Given the description of an element on the screen output the (x, y) to click on. 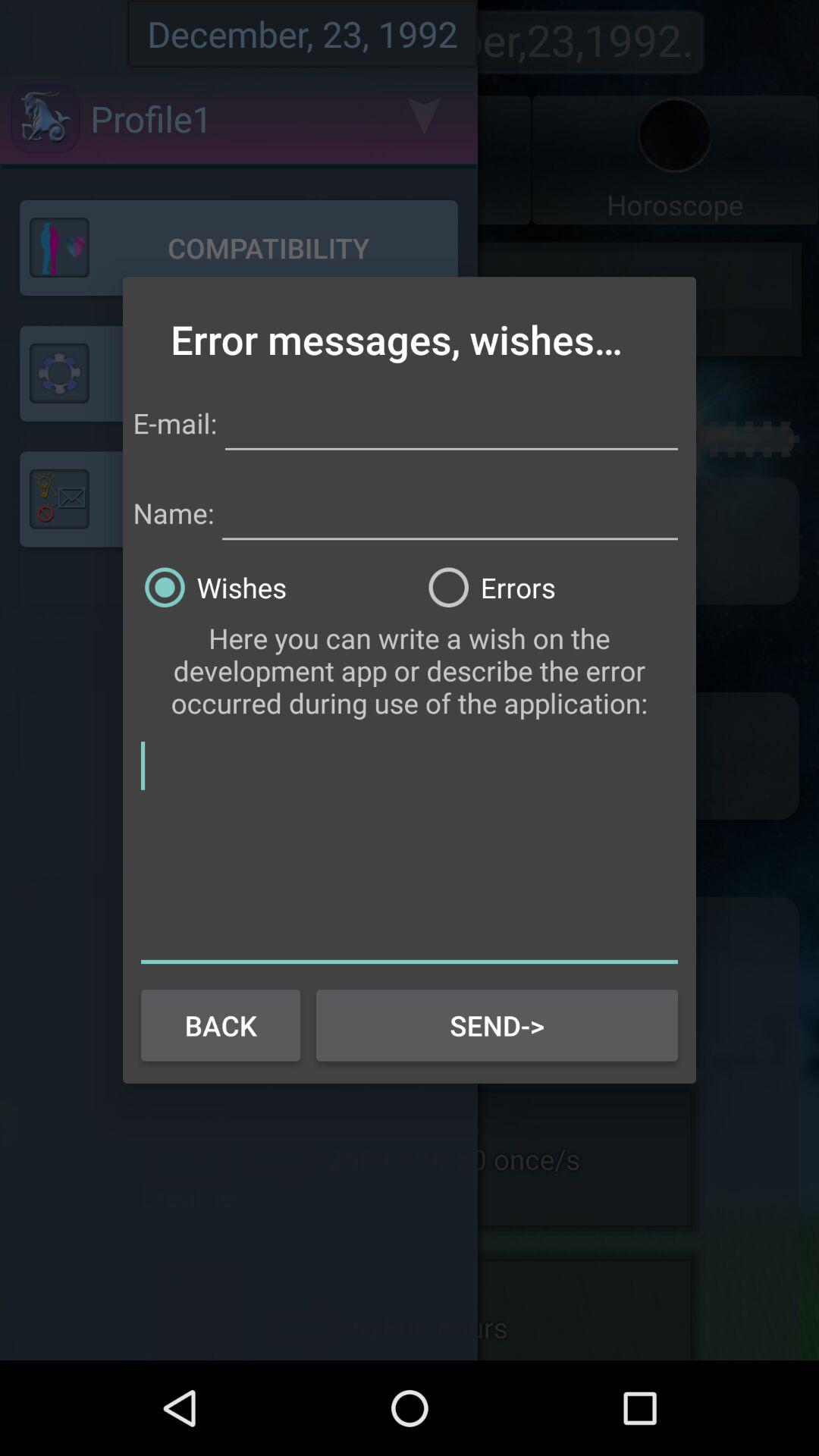
enter text (409, 849)
